Given the description of an element on the screen output the (x, y) to click on. 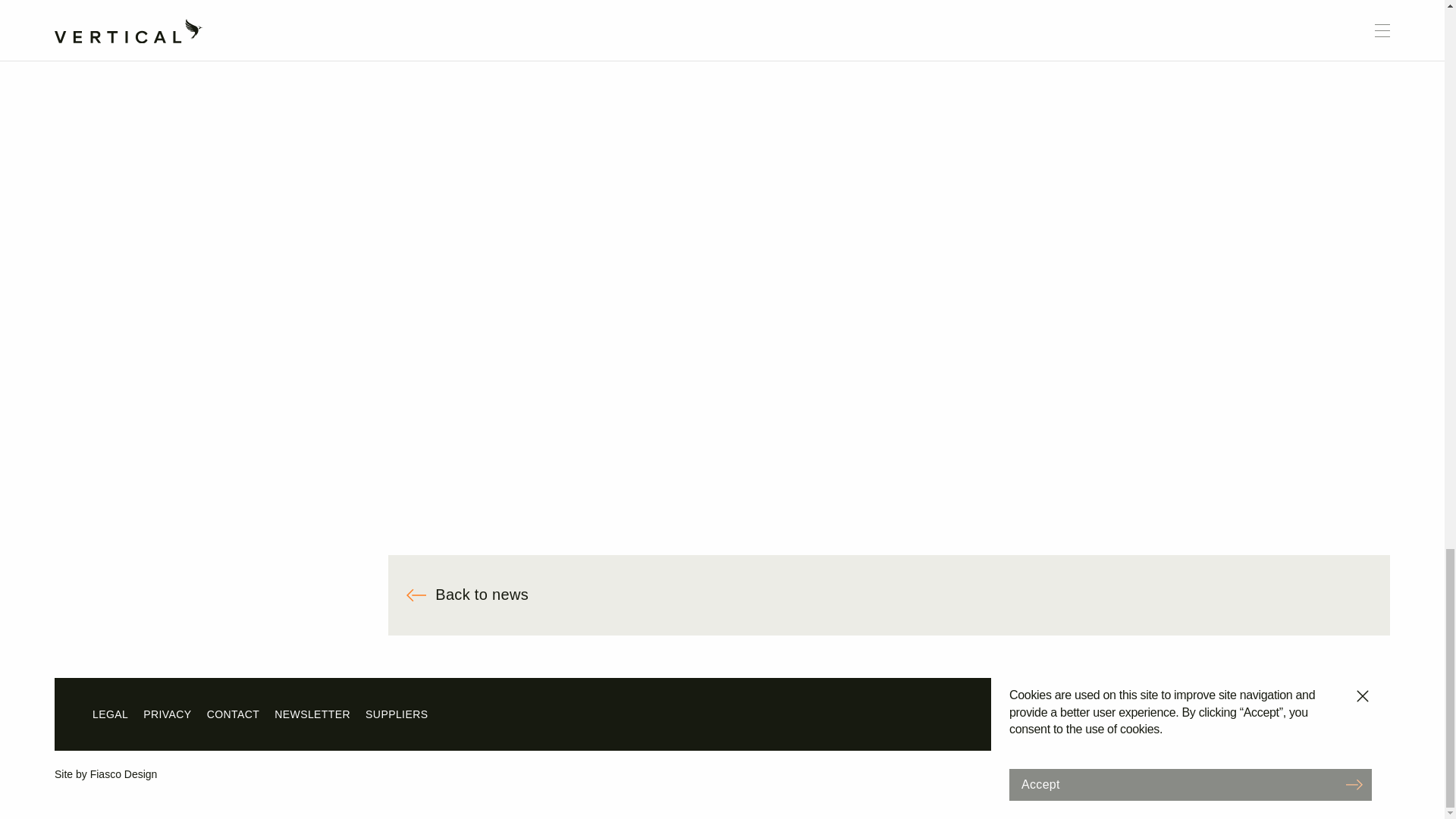
SUPPLIERS (396, 713)
Back to news (889, 595)
NEWSLETTER (312, 713)
LINKEDIN (1333, 713)
YOUTUBE (1265, 713)
Fiasco Design (123, 773)
LEGAL (110, 713)
CONTACT (233, 713)
PRIVACY (166, 713)
INSTAGRAM (1108, 713)
